Given the description of an element on the screen output the (x, y) to click on. 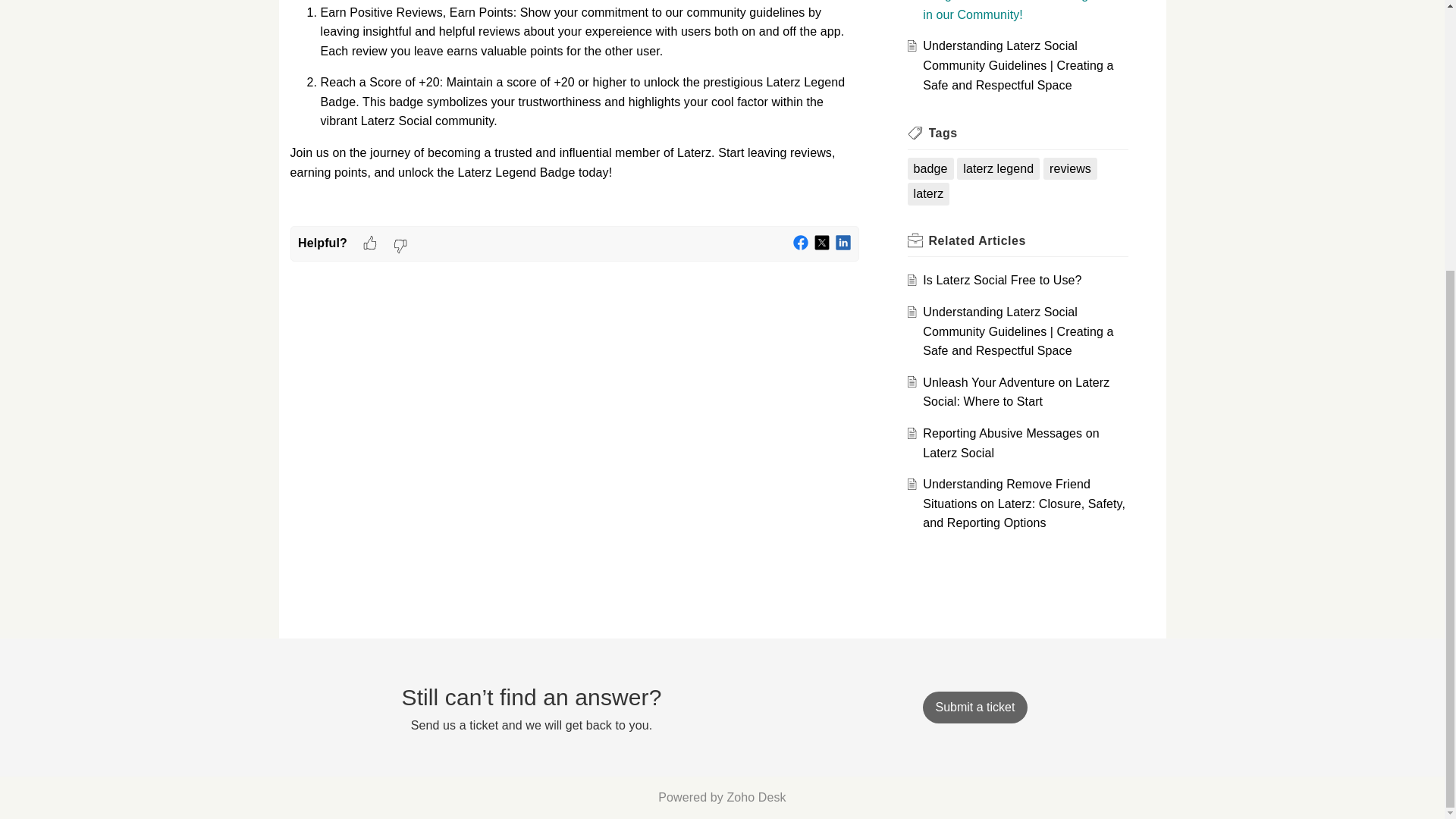
badge (929, 168)
Is Laterz Social Free to Use? (1002, 279)
Zoho Desk (756, 797)
laterz legend (997, 168)
Submit a ticket (974, 707)
Unleash Your Adventure on Laterz Social: Where to Start (1016, 391)
Submit a ticket (974, 707)
LinkedIn (842, 242)
reviews (1069, 168)
Reporting Abusive Messages on Laterz Social (1011, 442)
laterz (927, 193)
Twitter (821, 242)
